Given the description of an element on the screen output the (x, y) to click on. 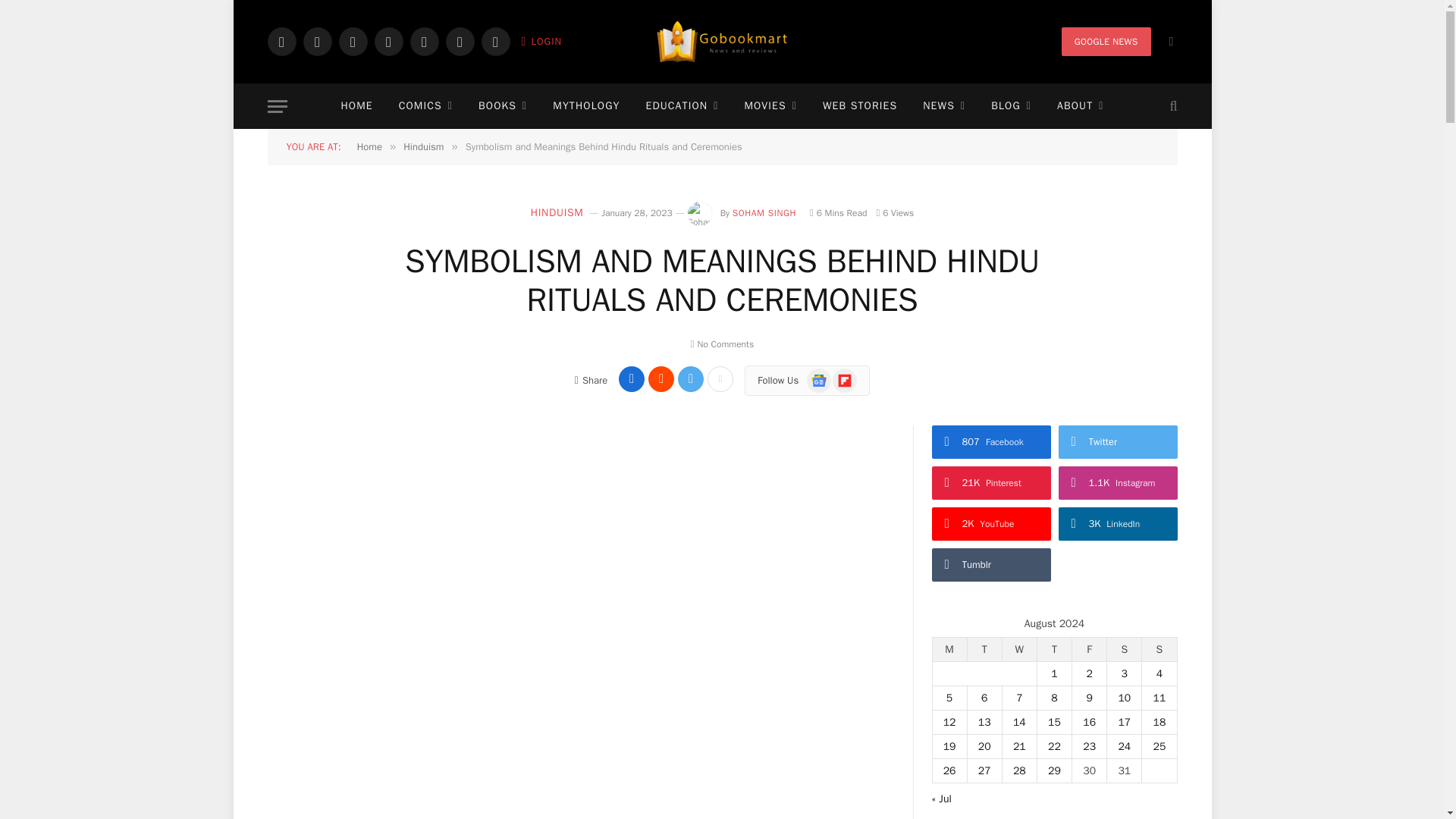
Share on Facebook (631, 379)
COMICS (425, 105)
Posts by Soham Singh (764, 213)
YouTube (423, 41)
6 Article Views (895, 213)
GOOGLE NEWS (1106, 41)
MYTHOLOGY (585, 105)
Facebook (280, 41)
LOGIN (541, 41)
GoBookMart (721, 41)
